Given the description of an element on the screen output the (x, y) to click on. 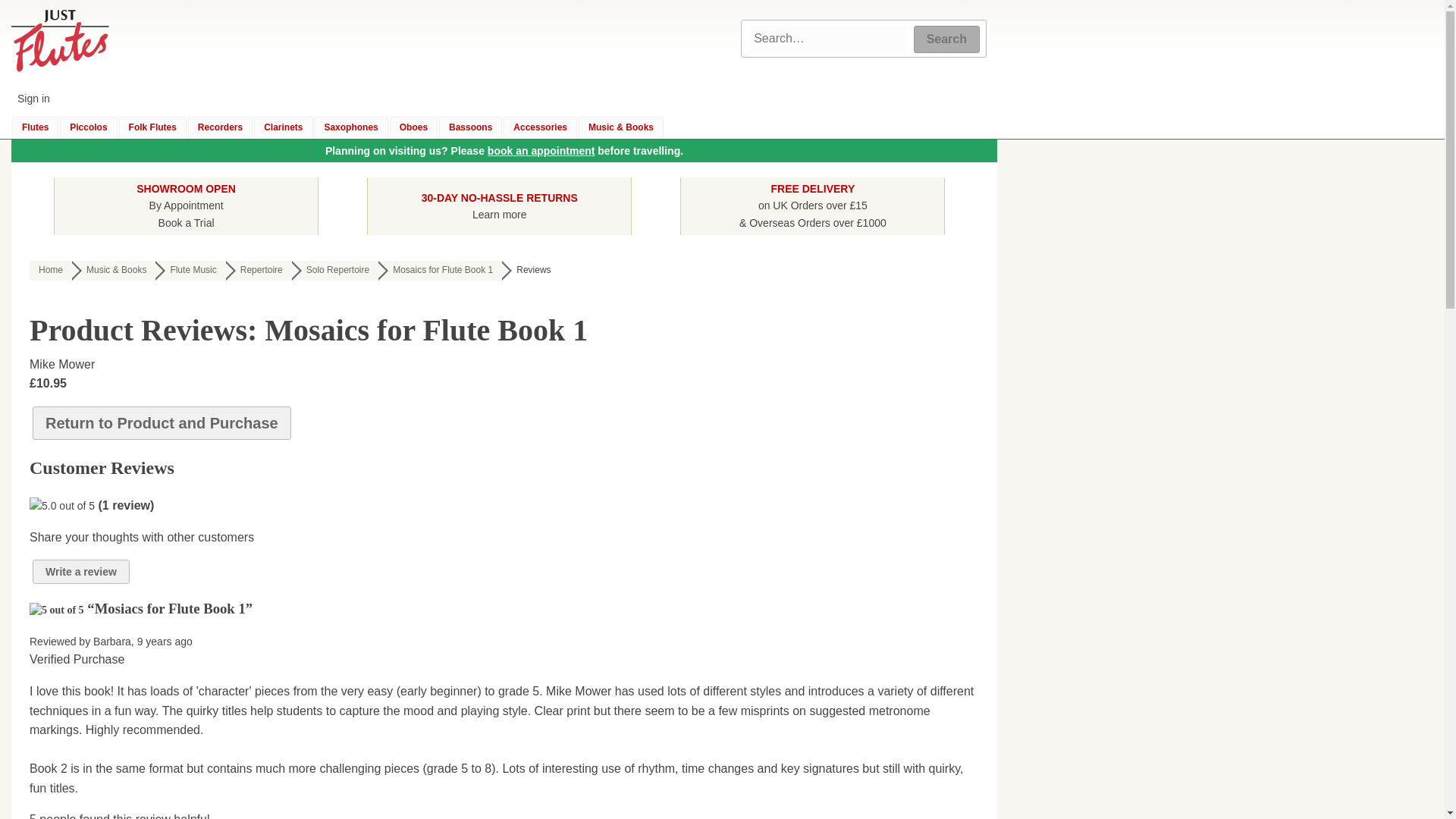
Flute Music (190, 270)
Solo Repertoire (335, 270)
Oboes (414, 127)
Home (50, 270)
Saxophones (350, 127)
Write a review (80, 571)
Piccolos (87, 127)
Solo Repertoire (335, 270)
Search (946, 39)
Mosaics for Flute Book 1 (440, 270)
Folk Flutes (152, 127)
book an appointment (499, 205)
Flute Music (541, 150)
Recorders (190, 270)
